Given the description of an element on the screen output the (x, y) to click on. 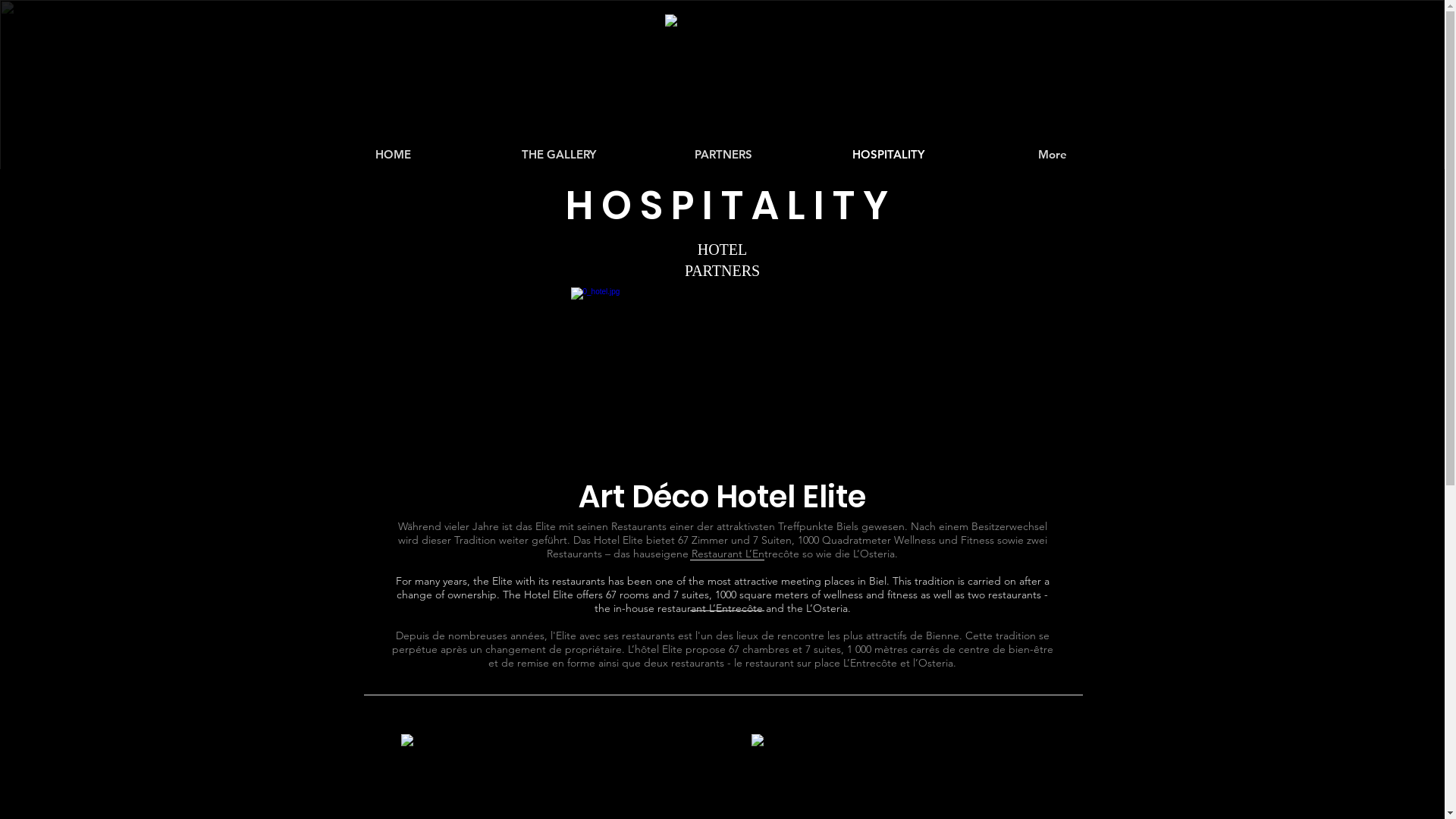
THE GALLERY Element type: text (558, 154)
HOME Element type: text (393, 154)
HOSPITALITY Element type: text (887, 154)
PARTNERS Element type: text (723, 154)
